Given the description of an element on the screen output the (x, y) to click on. 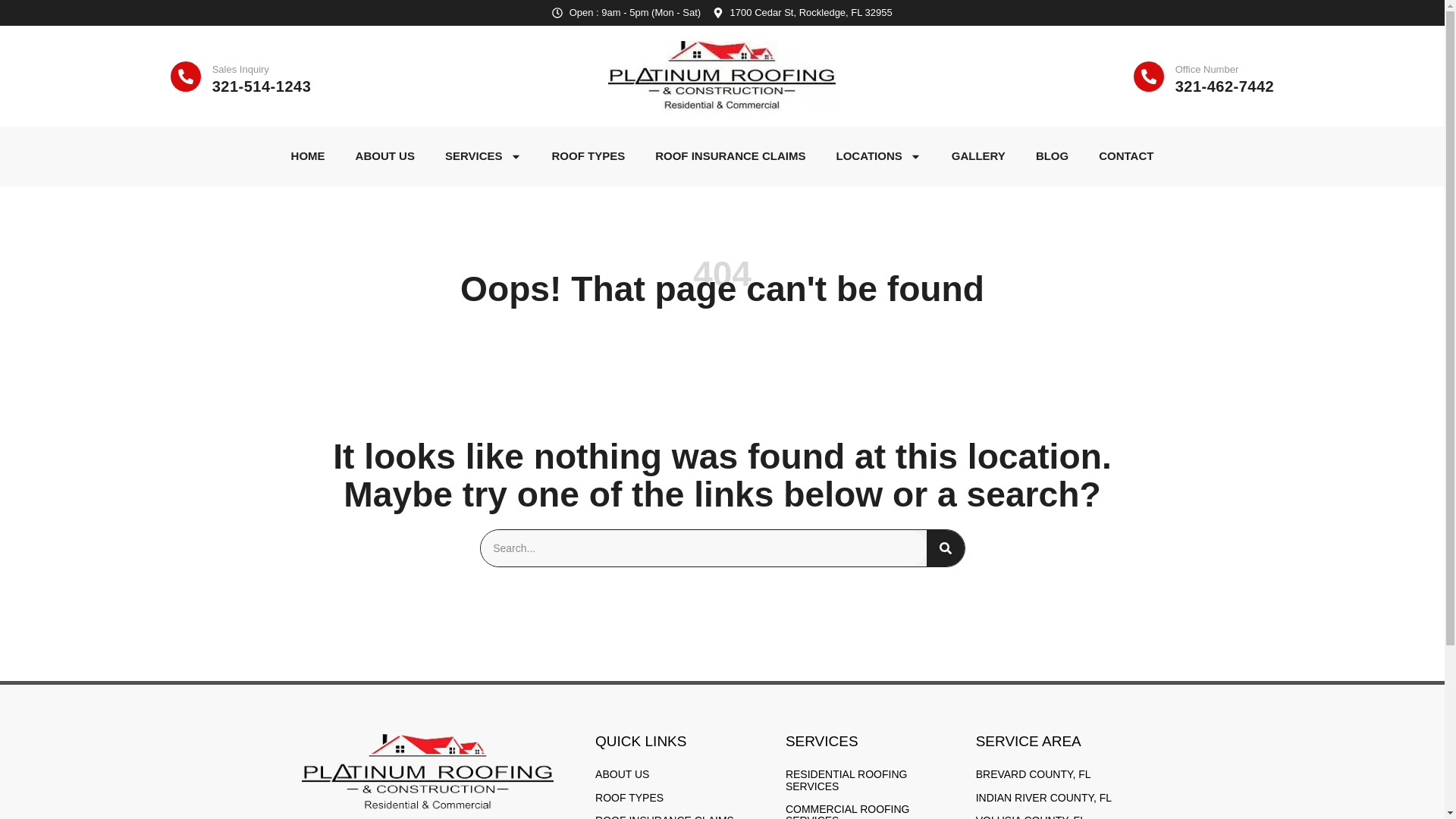
1700 Cedar St, Rockledge, FL 32955 (802, 12)
ROOF INSURANCE CLAIMS (730, 156)
LOCATIONS (878, 156)
SERVICES (483, 156)
Sales Inquiry (240, 69)
Office Number (1206, 69)
ABOUT US (384, 156)
CONTACT (1126, 156)
GALLERY (978, 156)
HOME (308, 156)
ROOF TYPES (588, 156)
BLOG (1051, 156)
